Given the description of an element on the screen output the (x, y) to click on. 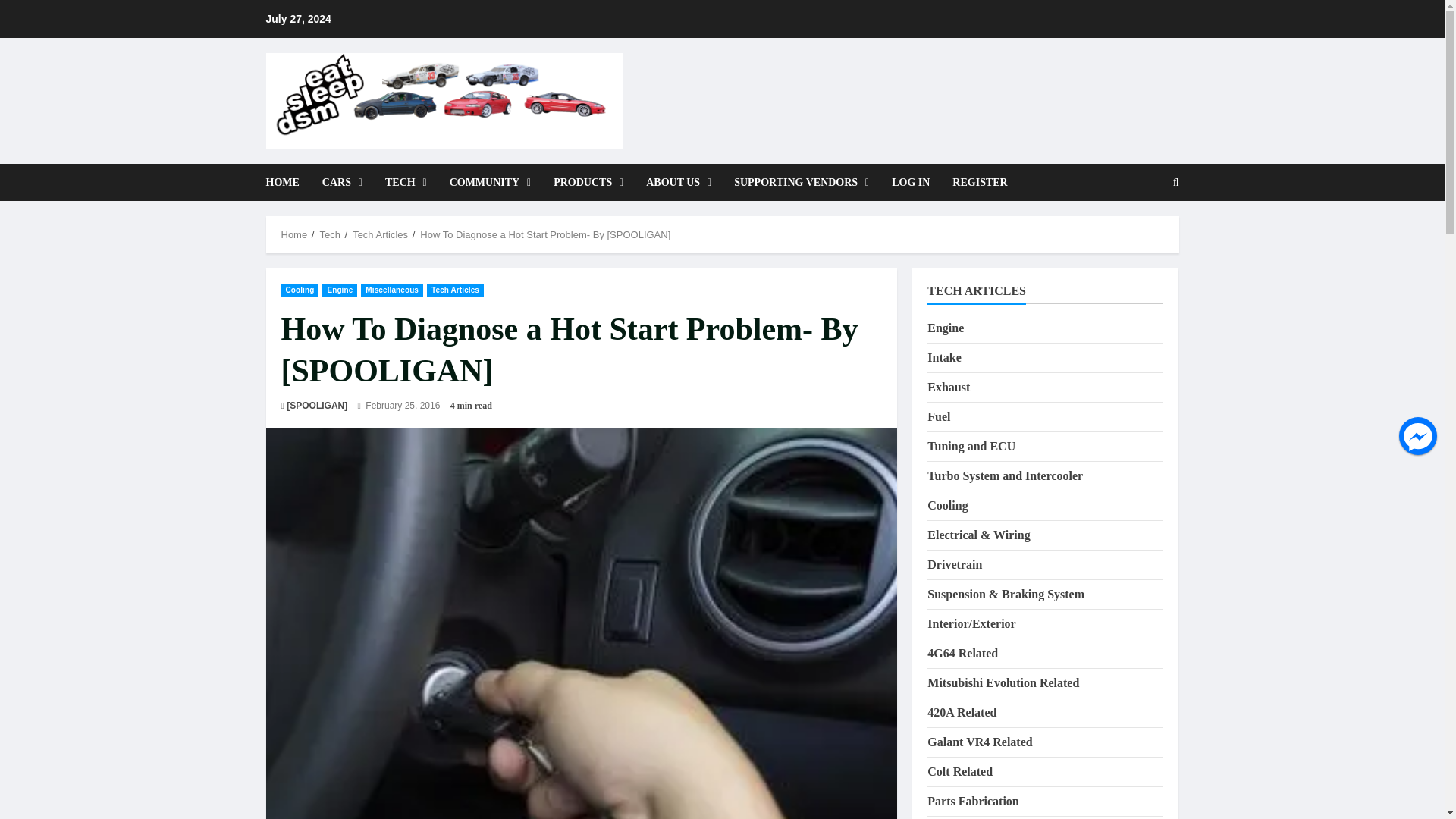
HOME (287, 181)
TECH (406, 181)
CARS (342, 181)
